Given the description of an element on the screen output the (x, y) to click on. 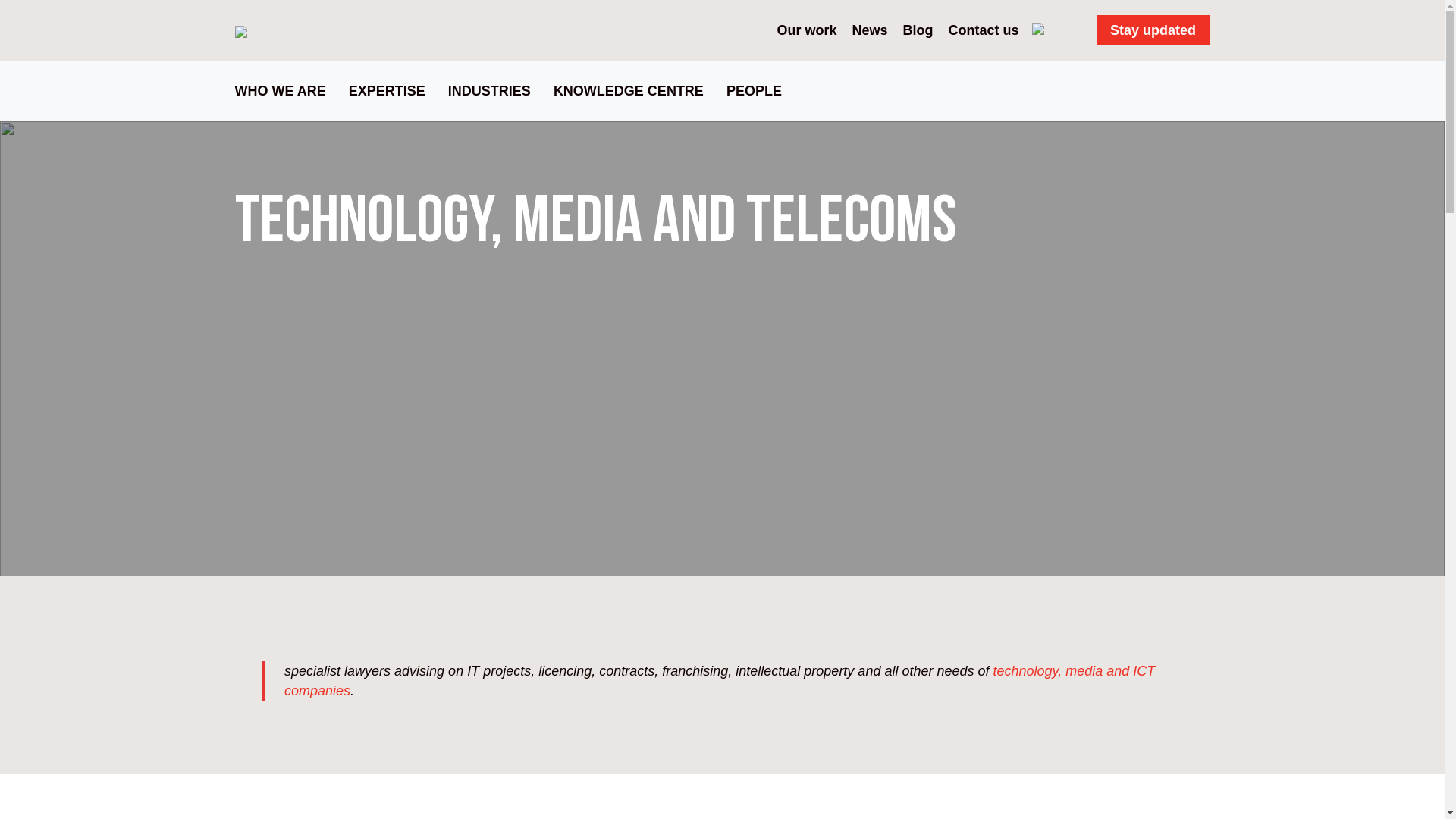
EXPERTISE (386, 90)
GO (1049, 30)
Our work (806, 29)
GO (1049, 30)
Contact us (983, 29)
KNOWLEDGE CENTRE (627, 90)
WHO WE ARE (285, 90)
Stay updated (1152, 30)
GO (1049, 30)
PEOPLE (753, 90)
